Given the description of an element on the screen output the (x, y) to click on. 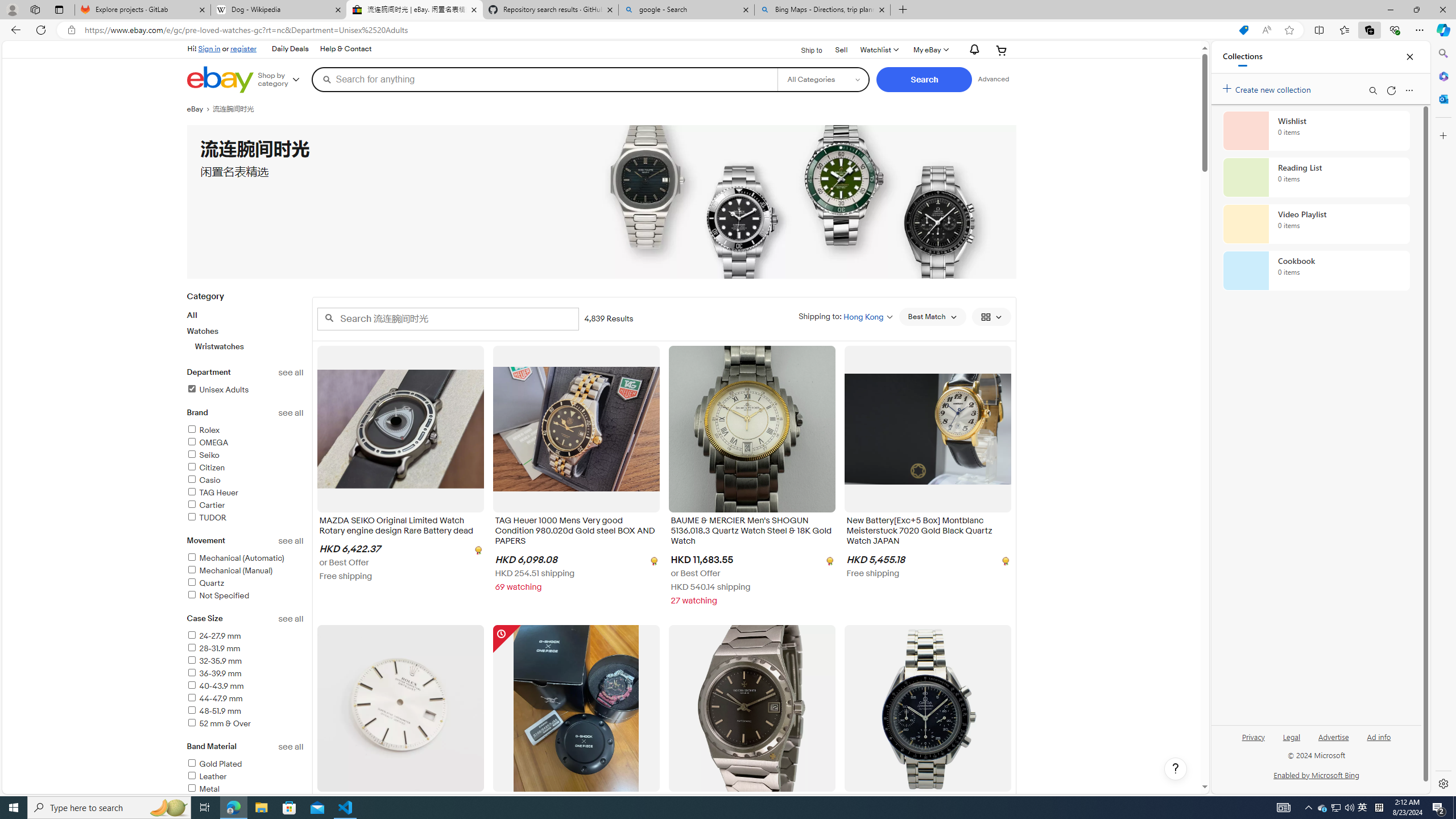
Advanced Search (993, 78)
48-51.9 mm (213, 710)
Shipping to: Hong Kong (845, 316)
Sort: Best Match (932, 316)
WatchlistExpand Watch List (878, 49)
52 mm & Over (245, 724)
36-39.9 mm (245, 674)
Wristwatches (249, 346)
Enter your search keyword (448, 318)
32-35.9 mm (213, 660)
